Given the description of an element on the screen output the (x, y) to click on. 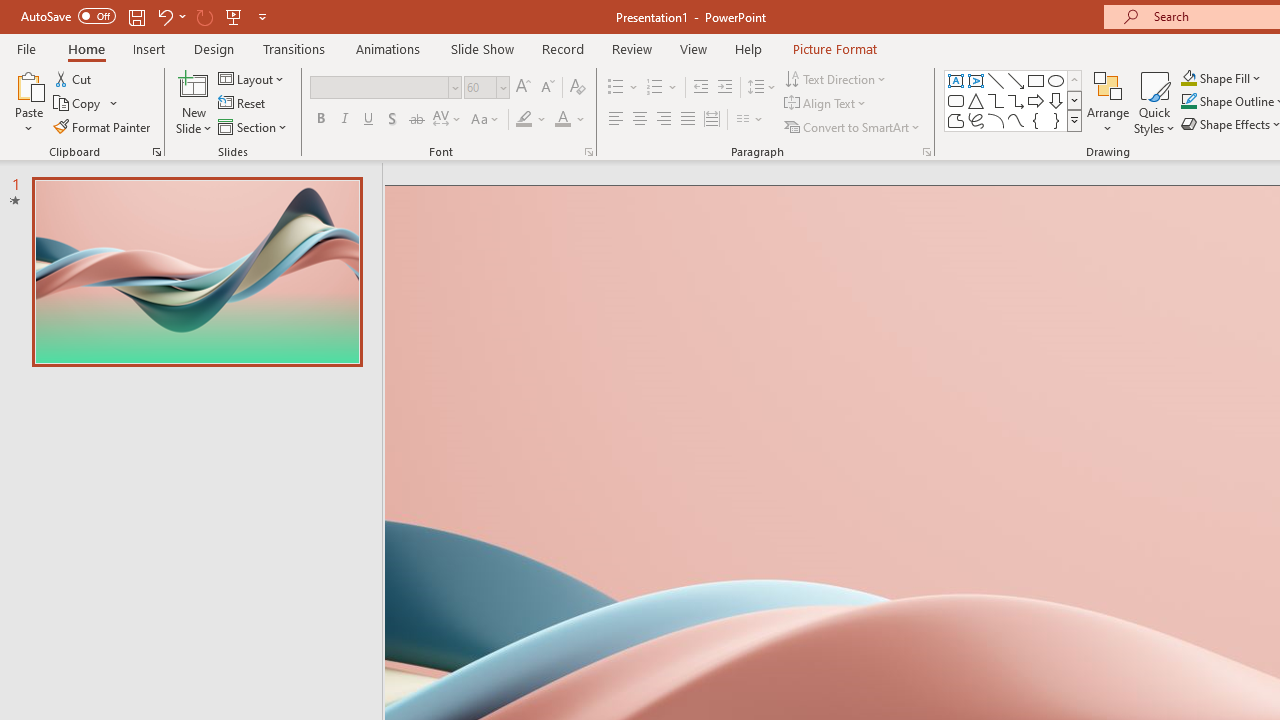
Shape Outline Blue, Accent 1 (1188, 101)
